Given the description of an element on the screen output the (x, y) to click on. 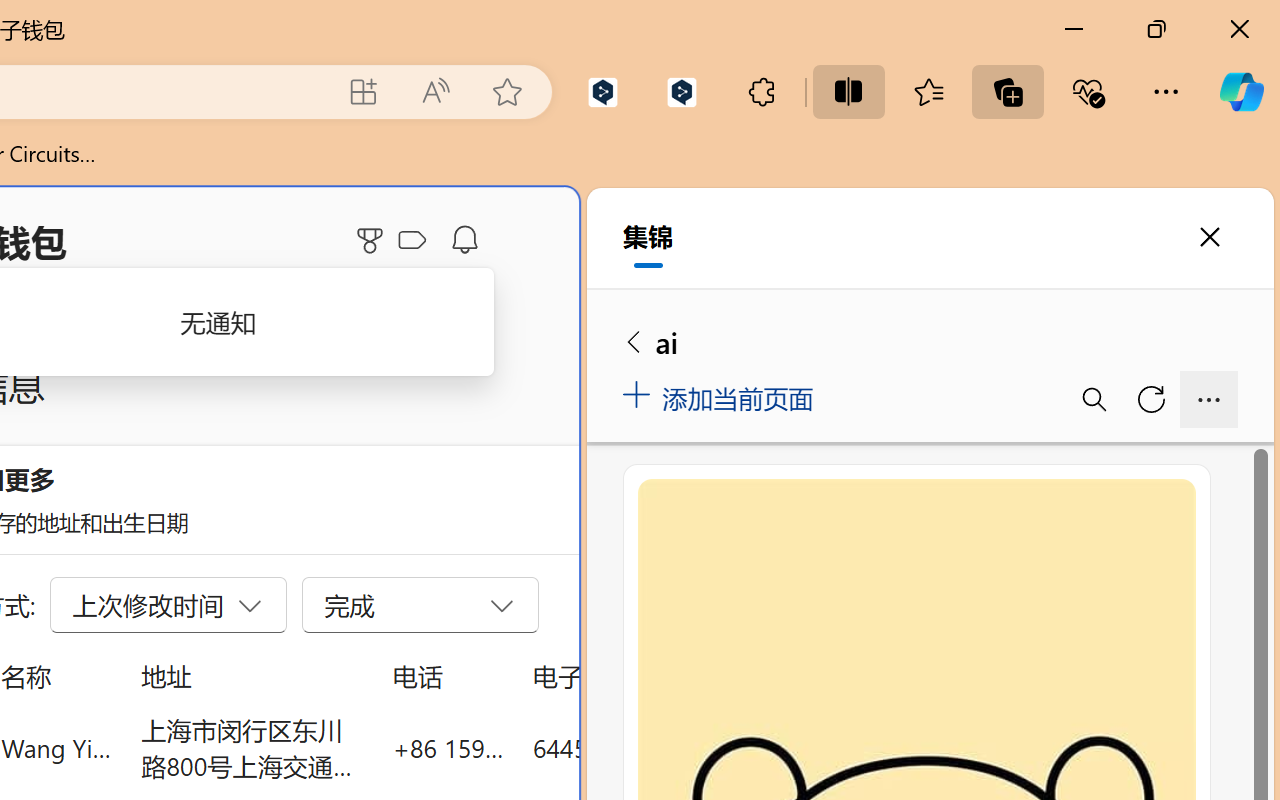
+86 159 0032 4640 (447, 747)
644553698@qq.com (644, 747)
Copilot (Ctrl+Shift+.) (1241, 91)
Microsoft Cashback (415, 241)
Class: ___1lmltc5 f1agt3bx f12qytpq (411, 241)
